Given the description of an element on the screen output the (x, y) to click on. 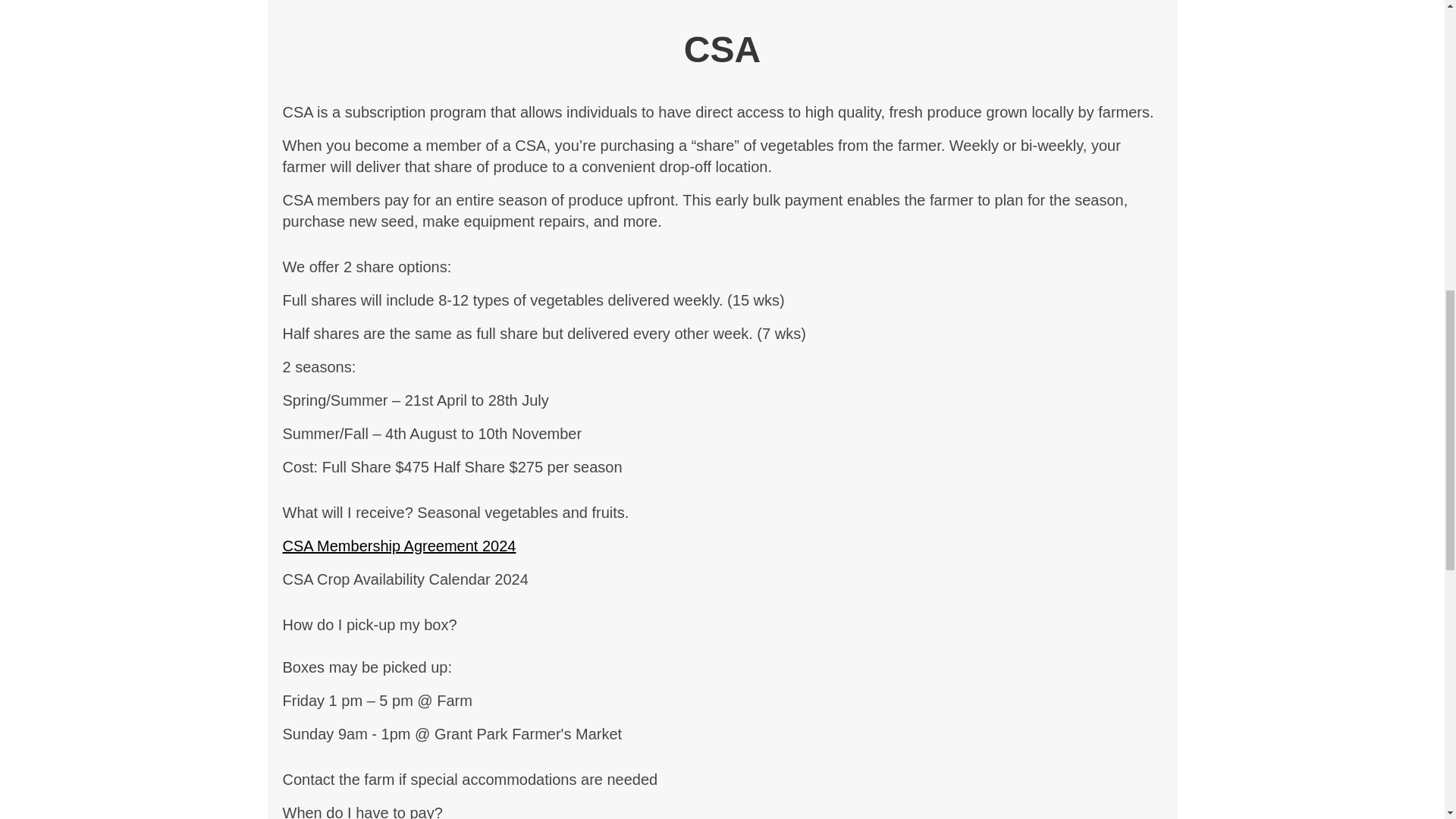
CSA Membership Agreement 2024 (398, 545)
CSA Membership Agreement 2024 (398, 545)
